Given the description of an element on the screen output the (x, y) to click on. 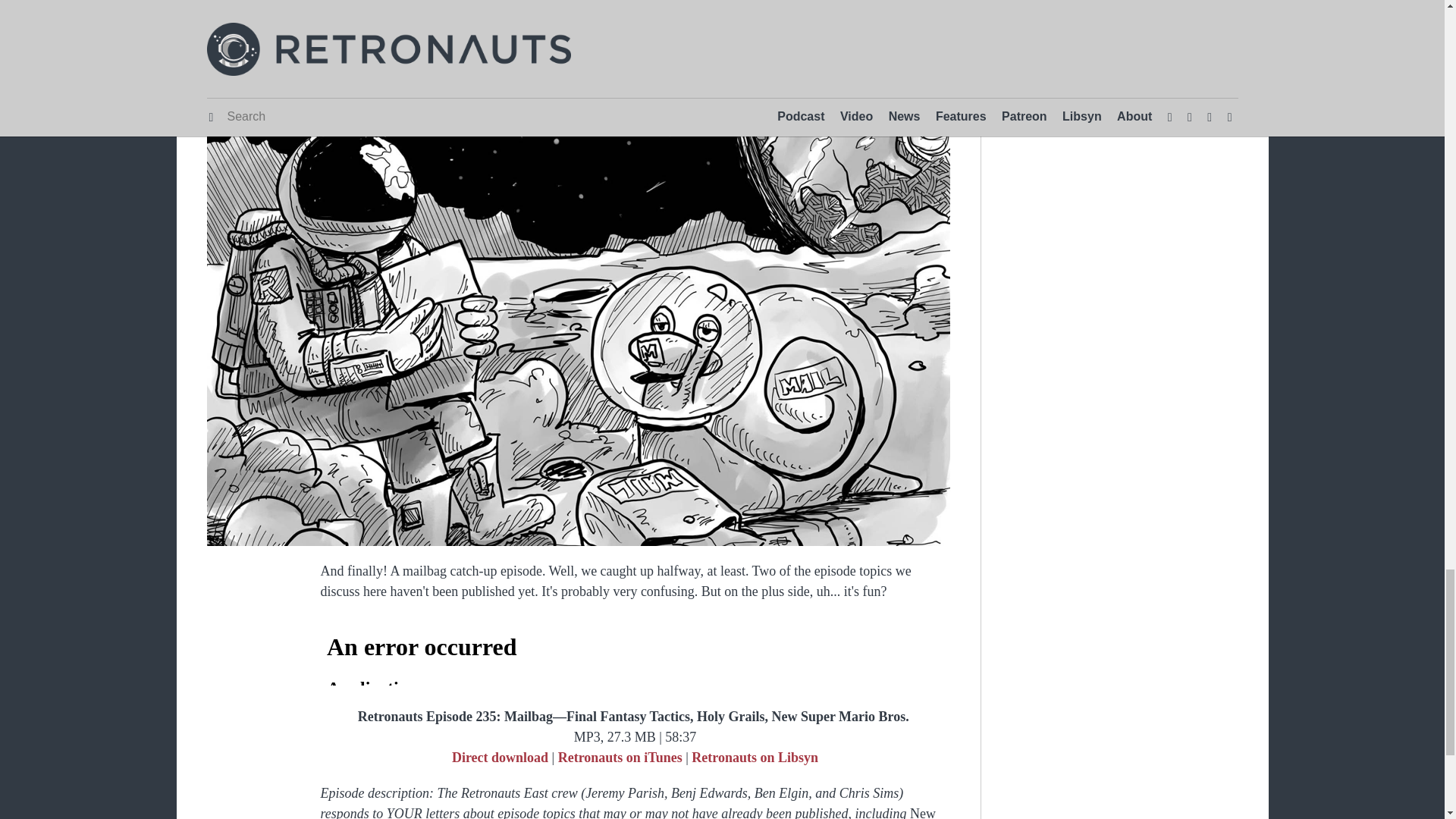
Retronauts on iTunes (619, 756)
Retronauts on Libsyn (754, 24)
Retronauts on Libsyn (754, 756)
Direct download (499, 756)
Direct download (499, 24)
Retronauts on iTunes (619, 24)
